Given the description of an element on the screen output the (x, y) to click on. 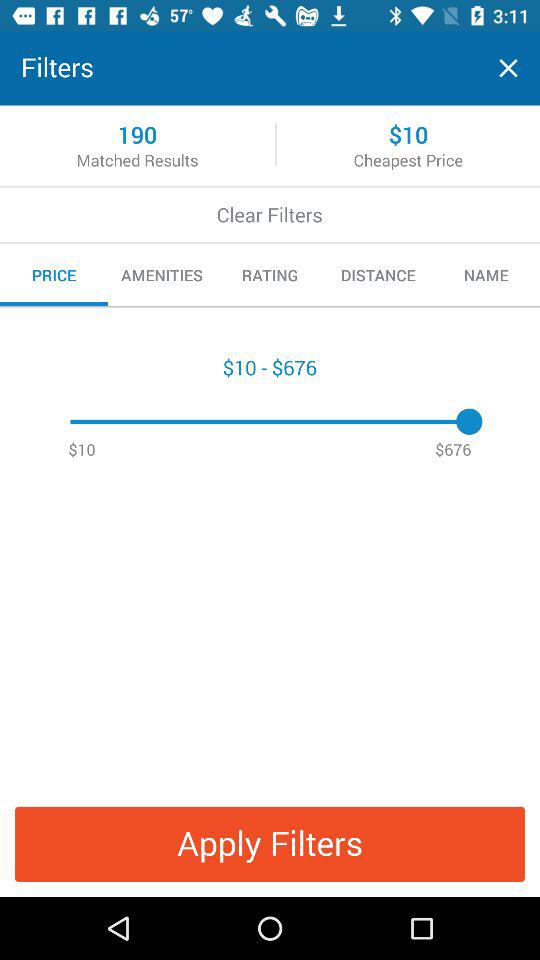
choose the item next to filters item (508, 67)
